Given the description of an element on the screen output the (x, y) to click on. 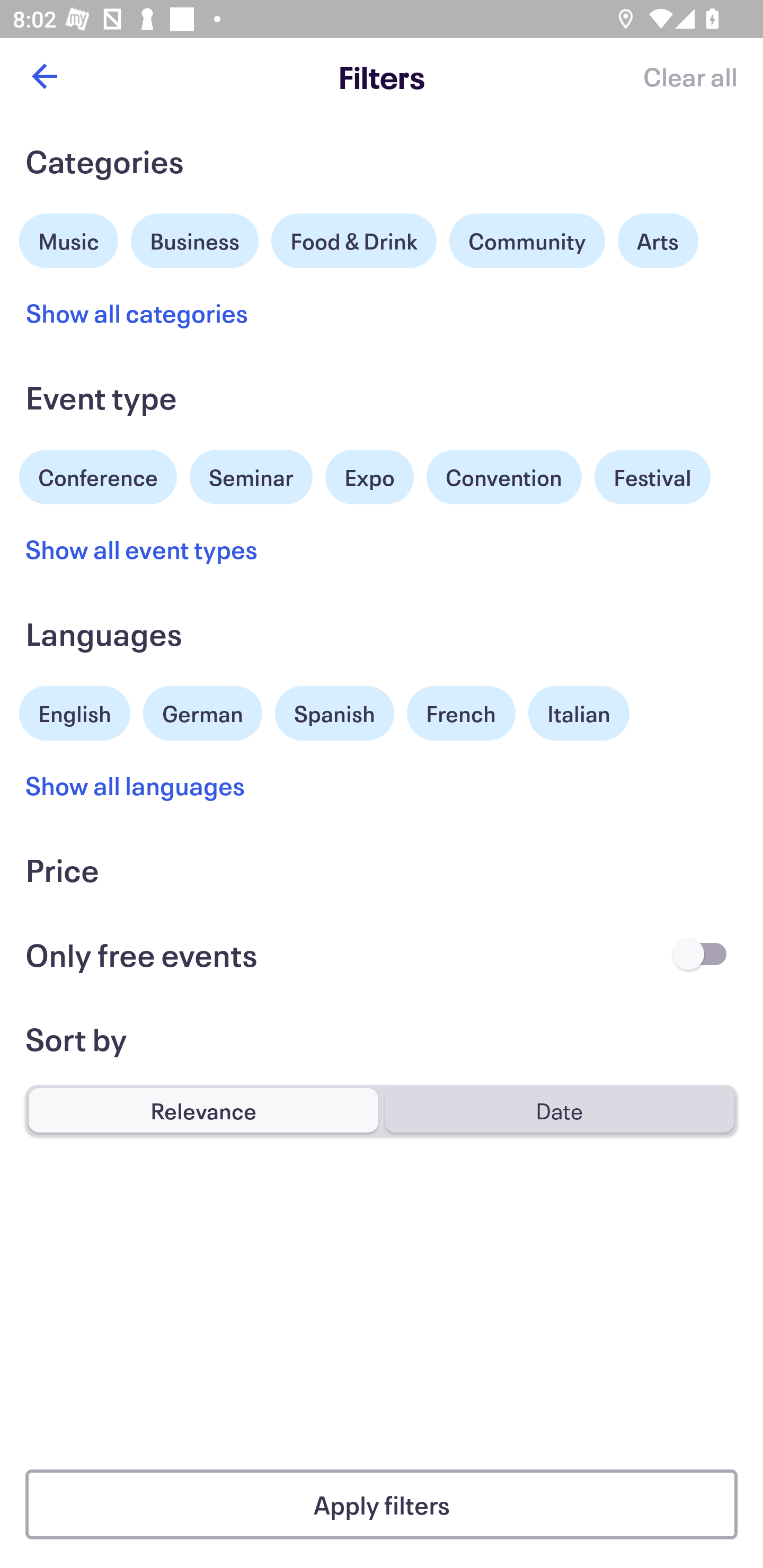
Back button (44, 75)
Clear all (690, 75)
Music (68, 238)
Business (194, 238)
Food & Drink (353, 240)
Community (527, 240)
Arts (658, 240)
Show all categories (136, 312)
Conference (98, 475)
Seminar (250, 477)
Expo (369, 477)
Convention (503, 477)
Festival (652, 477)
Show all event types (141, 548)
English (74, 710)
German (202, 710)
Spanish (334, 713)
French (460, 713)
Italian (578, 713)
Show all languages (135, 784)
Relevance (203, 1109)
Date (559, 1109)
Apply filters (381, 1504)
